Given the description of an element on the screen output the (x, y) to click on. 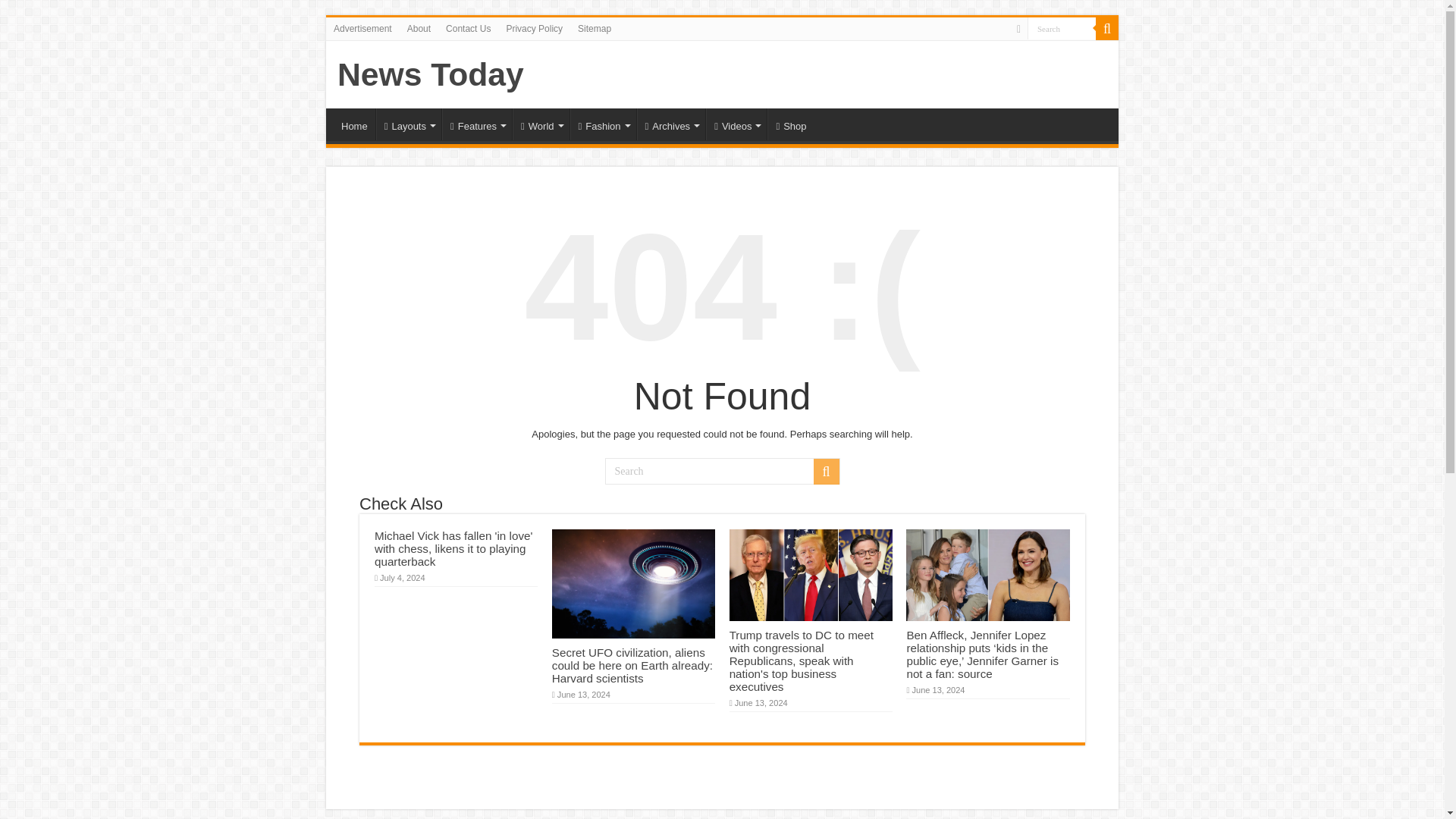
Search (1061, 28)
Search (1061, 28)
Search (1061, 28)
Search (722, 470)
